Given the description of an element on the screen output the (x, y) to click on. 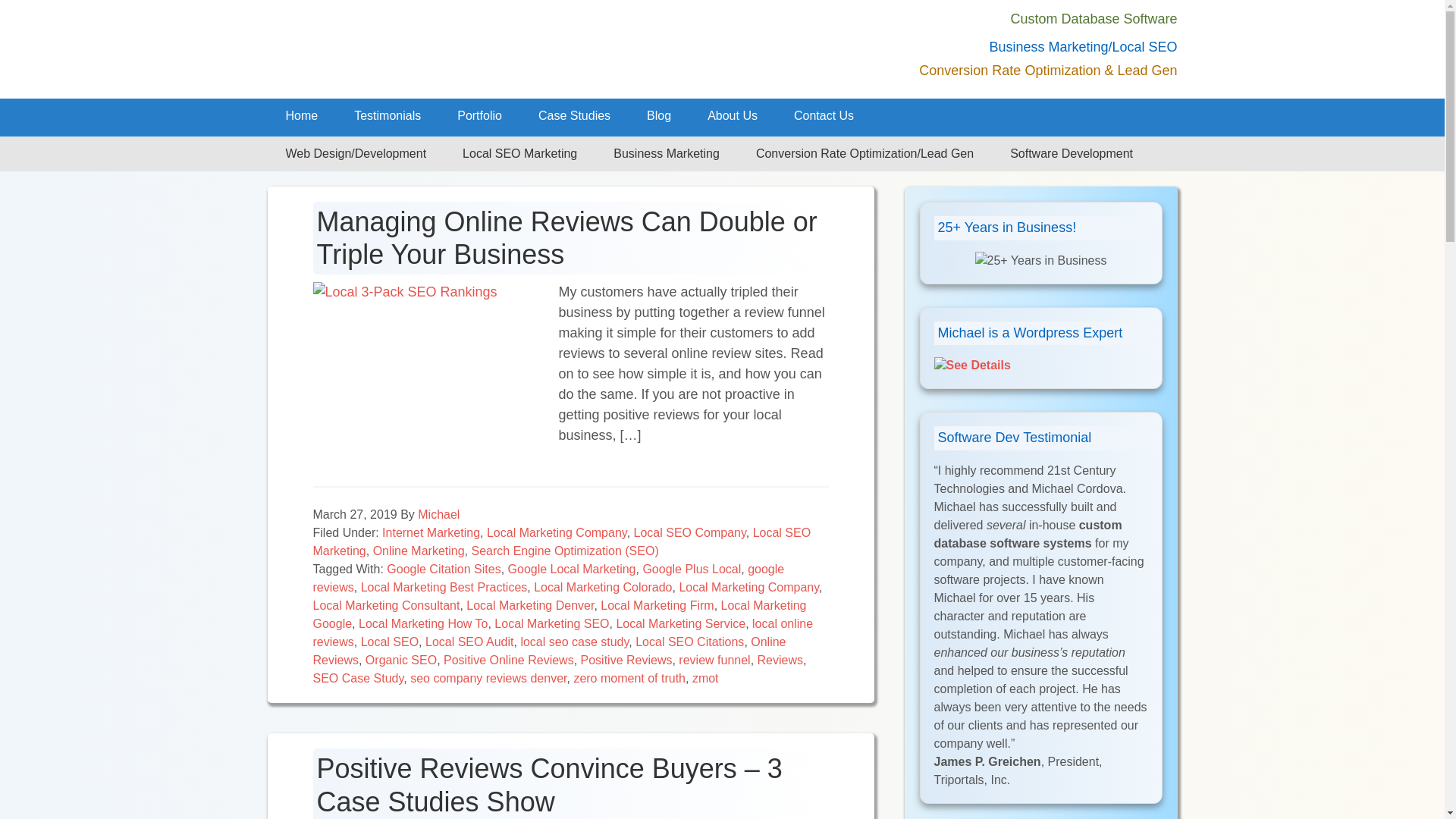
Contact Us Element type: text (823, 115)
Michael Element type: text (438, 514)
Custom Database Software Element type: text (1093, 18)
Google Local Marketing Element type: text (572, 568)
See Details Element type: text (972, 364)
Organic SEO Element type: text (400, 659)
Local Marketing Colorado Element type: text (602, 586)
review funnel Element type: text (713, 659)
Local SEO Company Element type: text (689, 532)
local online reviews Element type: text (562, 632)
Search Engine Optimization (SEO) Element type: text (564, 550)
Local Marketing How To Element type: text (422, 623)
Local Marketing Google Element type: text (559, 614)
Local Marketing SEO Element type: text (551, 623)
Managing Online Reviews Can Double or Triple Your Business Element type: text (566, 237)
Conversion Rate Optimization & Lead Gen Element type: text (1047, 70)
Local Marketing Best Practices Element type: text (443, 586)
Web Design/Development Element type: text (355, 153)
About Us Element type: text (732, 115)
Local Marketing Denver Element type: text (529, 605)
Positive Reviews Element type: text (626, 659)
seo company reviews denver Element type: text (488, 677)
21st Century Technologies, Inc. Element type: text (478, 49)
Business Marketing/Local SEO Element type: text (1082, 46)
Internet Marketing Element type: text (431, 532)
zmot Element type: text (705, 677)
Local Marketing Company Element type: text (556, 532)
Local SEO Audit Element type: text (469, 641)
Google Plus Local Element type: text (691, 568)
Software Development Element type: text (1071, 153)
Local SEO Marketing Element type: text (519, 153)
Local Marketing Firm Element type: text (656, 605)
Business Marketing Element type: text (666, 153)
Local Marketing Company Element type: text (748, 586)
Home Element type: text (300, 115)
Reviews Element type: text (780, 659)
Local Marketing Consultant Element type: text (385, 605)
25+ Years in Business Element type: hover (1041, 260)
Local SEO Element type: text (389, 641)
Online Reviews Element type: text (548, 650)
Blog Element type: text (658, 115)
google reviews Element type: text (548, 577)
SEO Case Study Element type: text (357, 677)
Local SEO Marketing Element type: text (561, 541)
Testimonials Element type: text (387, 115)
Case Studies Element type: text (574, 115)
Portfolio Element type: text (479, 115)
local seo case study Element type: text (574, 641)
Local SEO Citations Element type: text (689, 641)
zero moment of truth Element type: text (629, 677)
Online Marketing Element type: text (418, 550)
Local Marketing Service Element type: text (680, 623)
Conversion Rate Optimization/Lead Gen Element type: text (864, 153)
Google Citation Sites Element type: text (443, 568)
Positive Online Reviews Element type: text (508, 659)
